Given the description of an element on the screen output the (x, y) to click on. 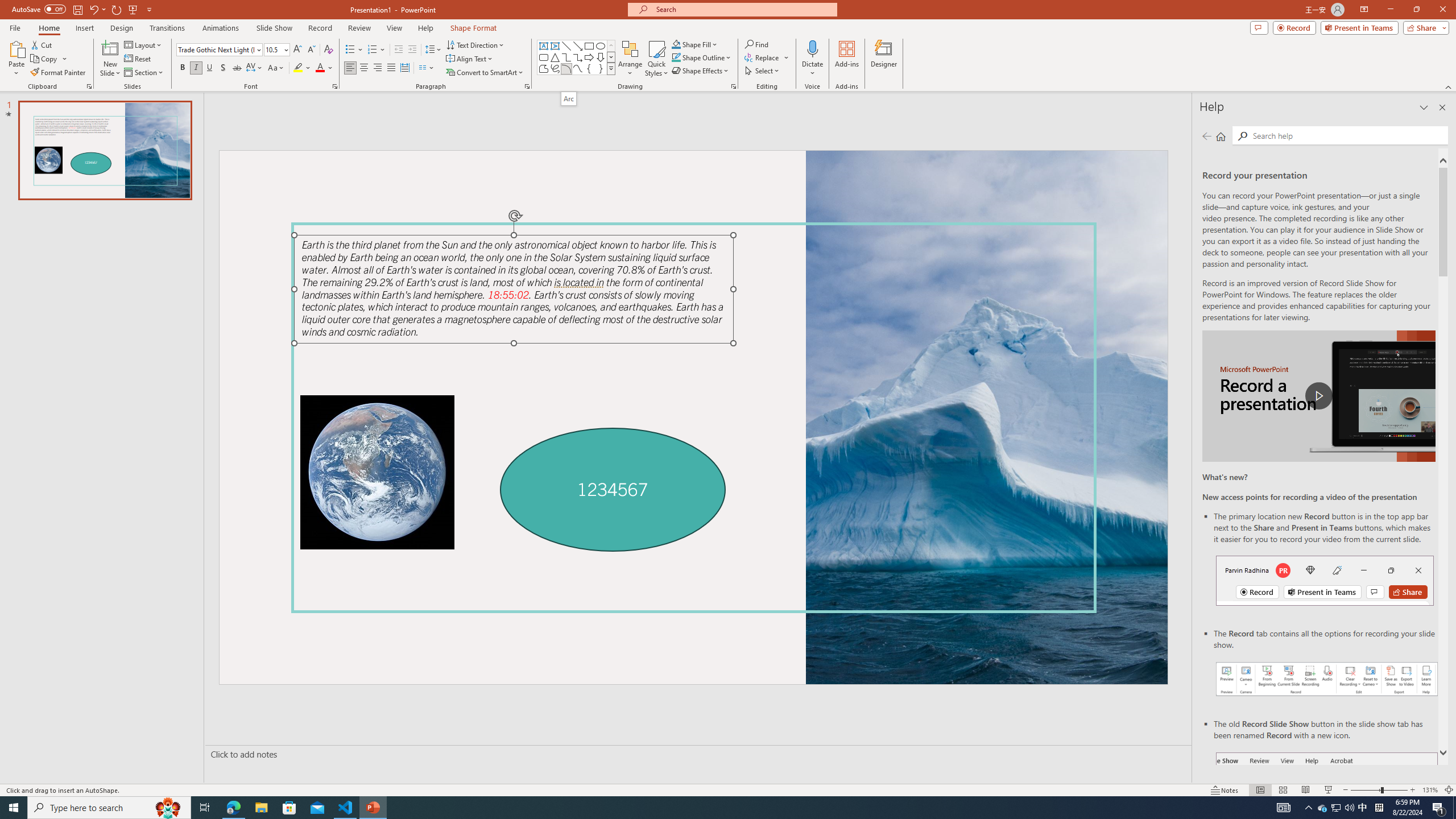
Shape Fill Aqua, Accent 2 (675, 44)
